Given the description of an element on the screen output the (x, y) to click on. 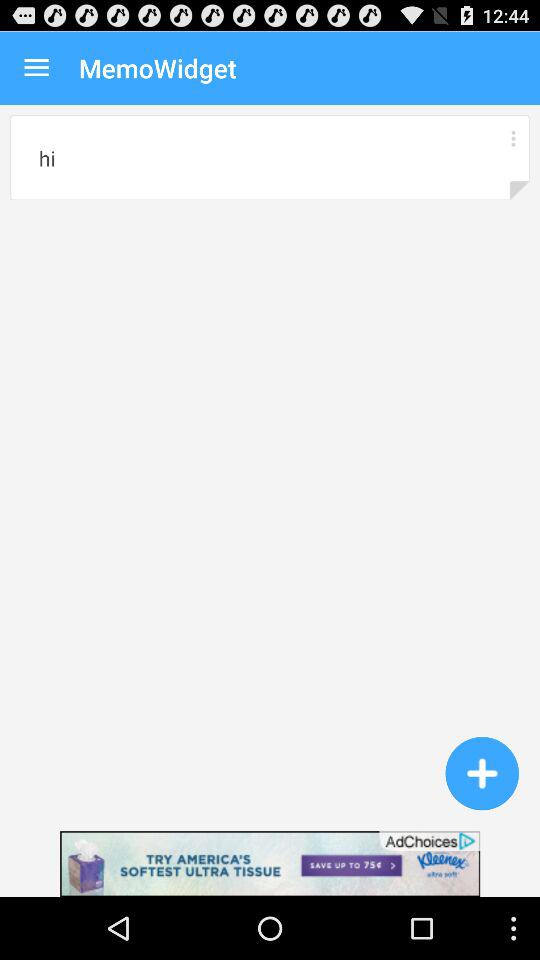
go to settings options (512, 138)
